Given the description of an element on the screen output the (x, y) to click on. 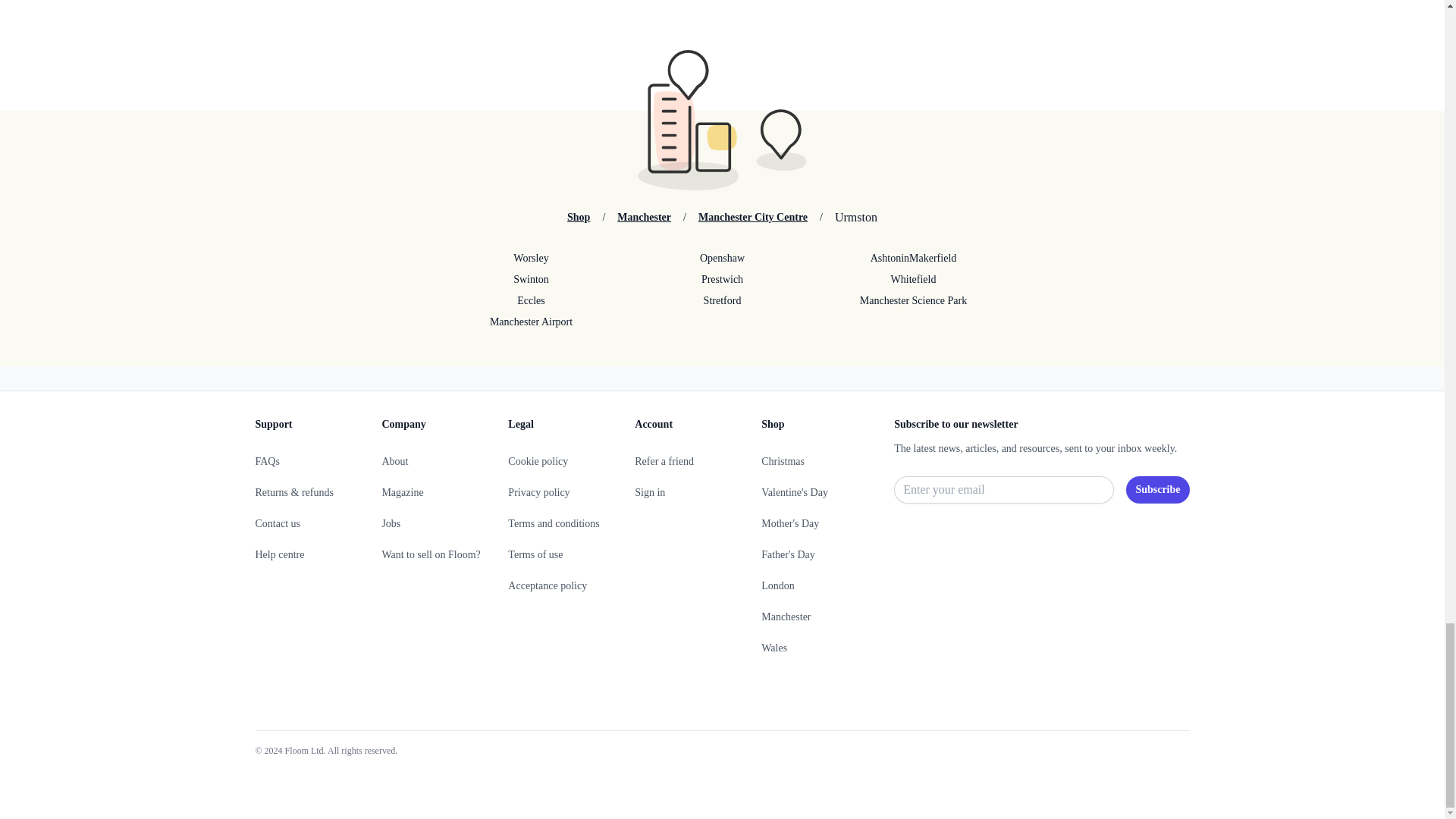
Whitefield (913, 279)
Stretford (721, 300)
Prestwich (721, 279)
Shop (578, 217)
Magazine (402, 491)
Help centre (279, 554)
Manchester City Centre (753, 217)
Manchester (644, 217)
Manchester Science Park (913, 300)
FAQs (266, 460)
